Given the description of an element on the screen output the (x, y) to click on. 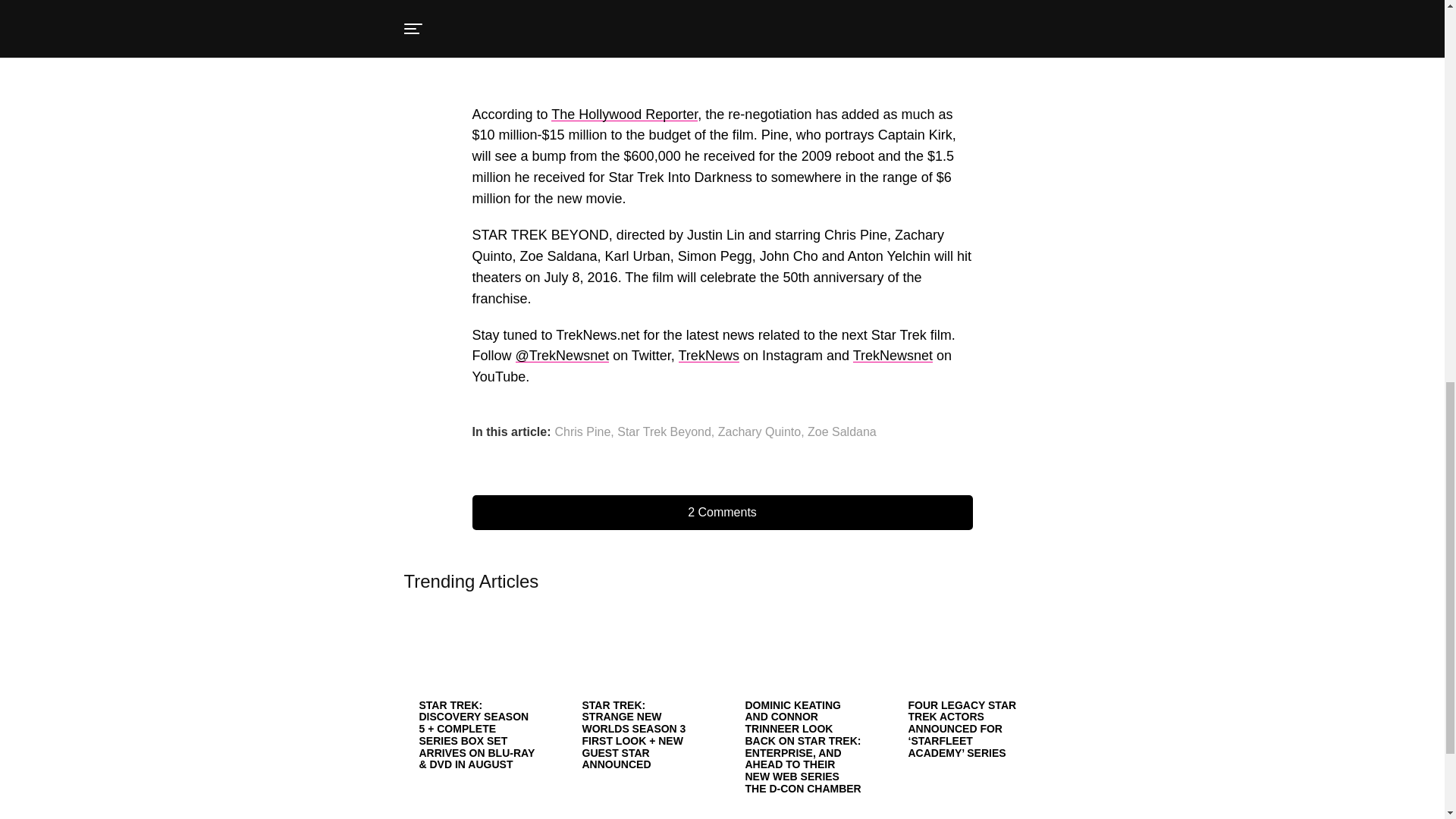
Star Trek Beyond (664, 431)
TrekNews (708, 355)
TrekNewsnet (893, 355)
TrekNewsnet (893, 355)
The Hollywood Reporter (624, 114)
Zoe Saldana (842, 431)
Chris Pine (582, 431)
TrekNews (708, 355)
Zachary Quinto (758, 431)
